Given the description of an element on the screen output the (x, y) to click on. 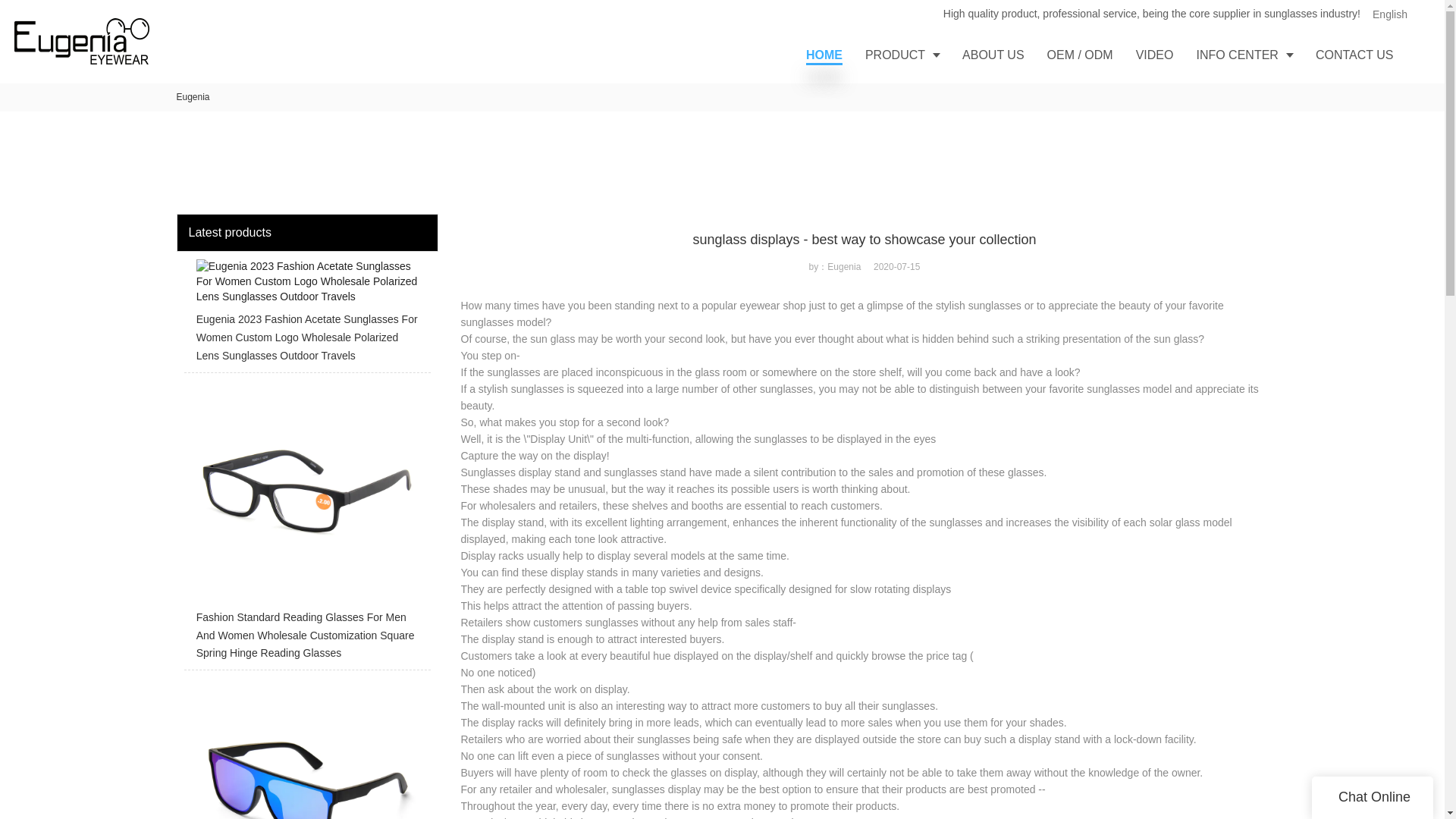
PRODUCT (901, 55)
INFO CENTER (1244, 55)
ABOUT US (992, 55)
HOME (823, 55)
CONTACT US (1354, 55)
VIDEO (1154, 55)
Eugenia (192, 96)
